Given the description of an element on the screen output the (x, y) to click on. 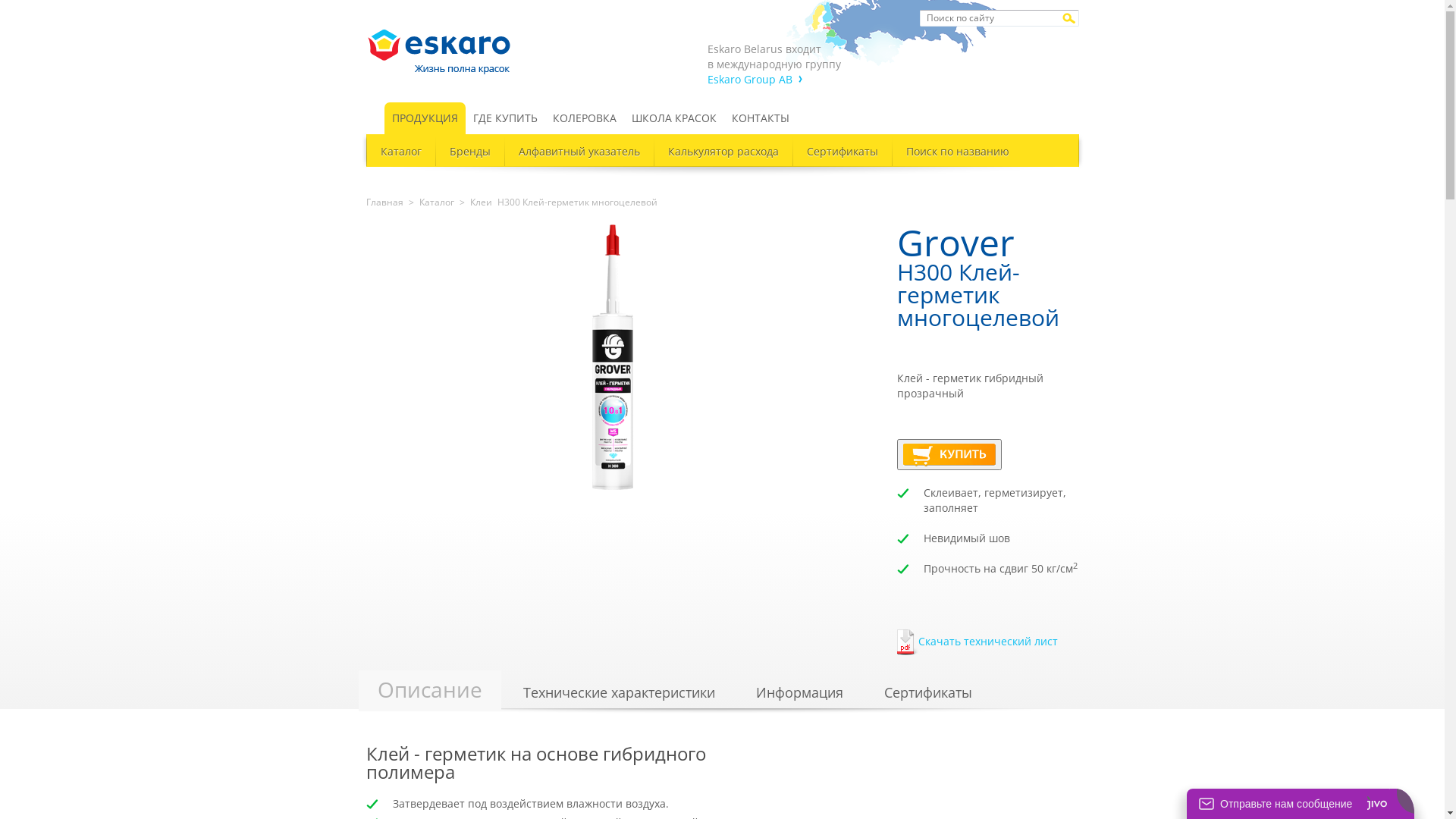
Eskaro Group AB Element type: text (753, 79)
  Element type: text (374, 118)
tmpJ46Bqu.png Element type: hover (948, 454)
